Given the description of an element on the screen output the (x, y) to click on. 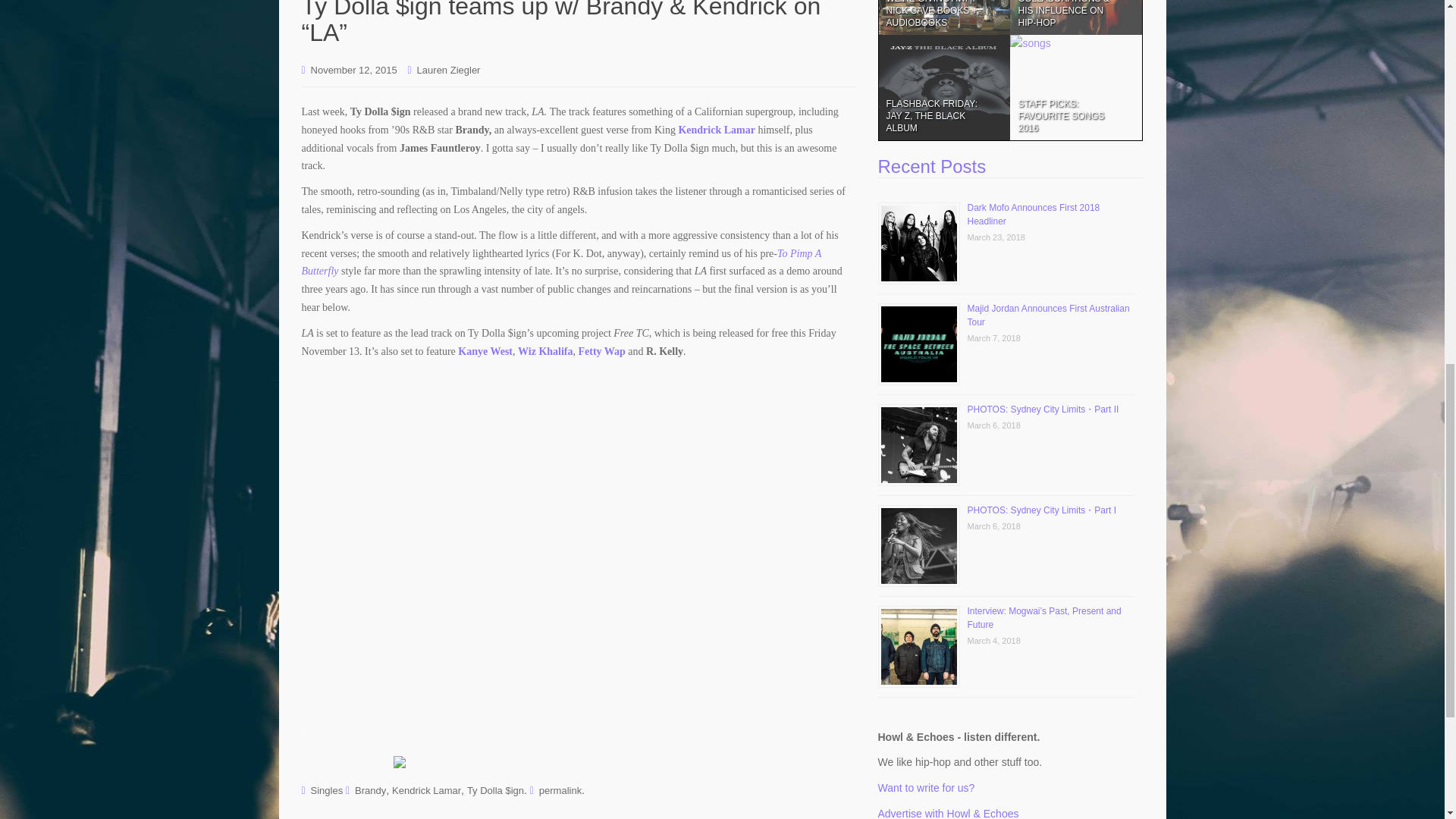
November 12, 2015 (354, 70)
Lauren Ziegler (448, 70)
To Pimp A Butterfly (561, 262)
Kendrick Lamar (716, 129)
